Given the description of an element on the screen output the (x, y) to click on. 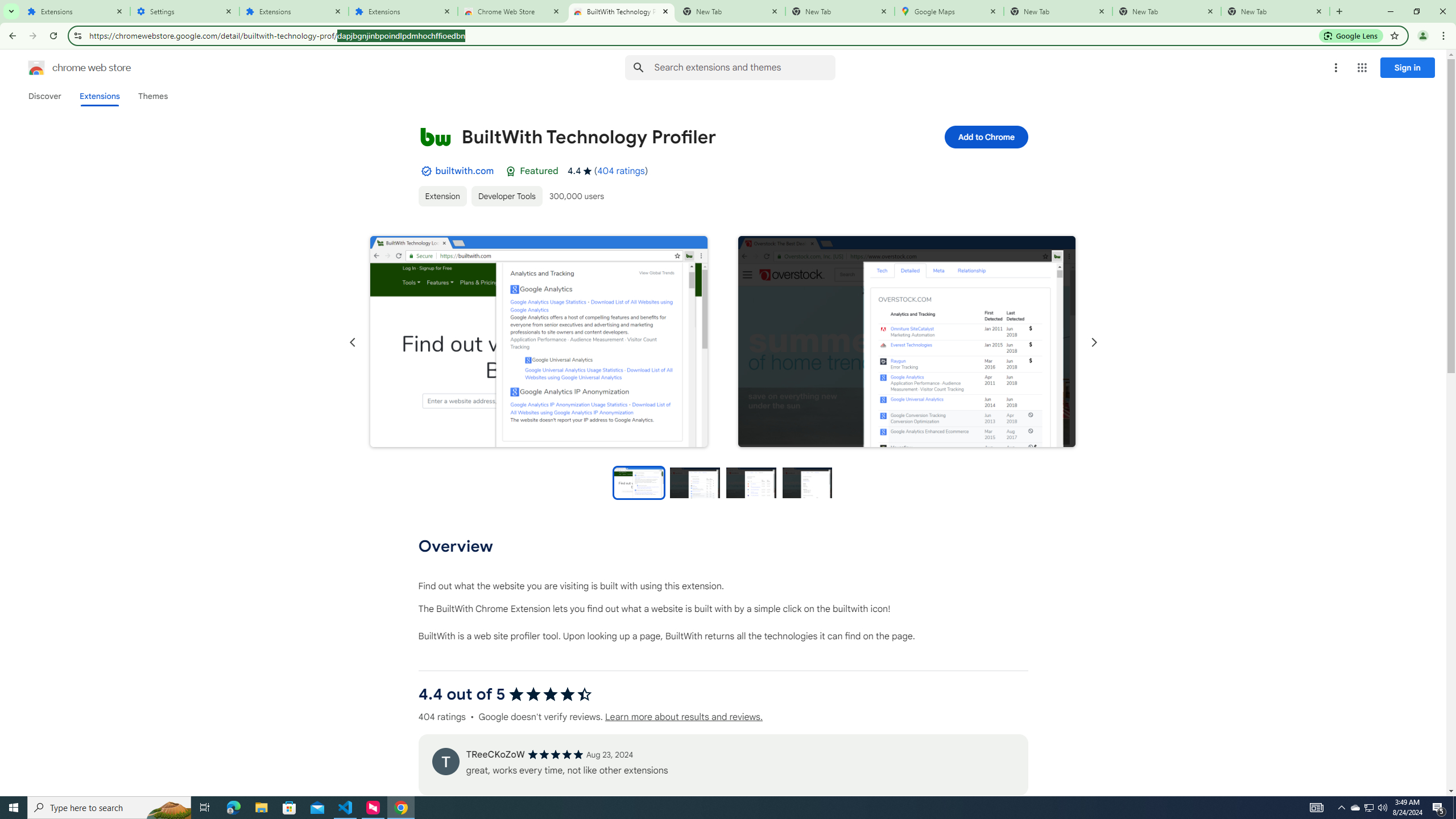
New Tab (1275, 11)
By Established Publisher Badge (425, 170)
Preview slide 1 (637, 482)
Add to Chrome (985, 136)
Review's profile picture (445, 760)
5 out of 5 stars (555, 753)
Themes (152, 95)
New Tab (1058, 11)
Search with Google Lens (1351, 35)
Extensions (293, 11)
